Given the description of an element on the screen output the (x, y) to click on. 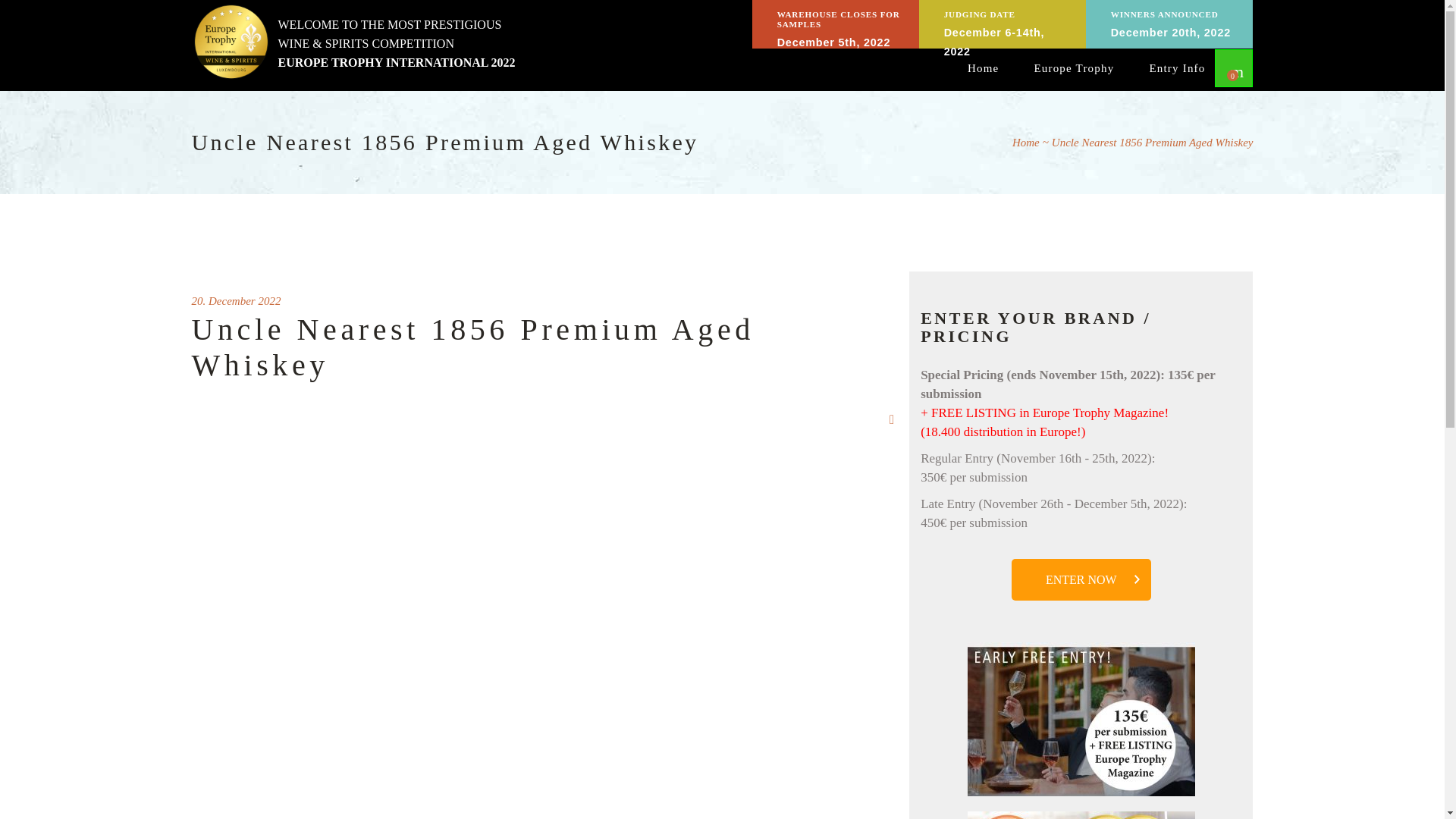
Home (983, 67)
0 (1236, 67)
Europe Trophy (1073, 67)
Entry Info (1176, 67)
